Given the description of an element on the screen output the (x, y) to click on. 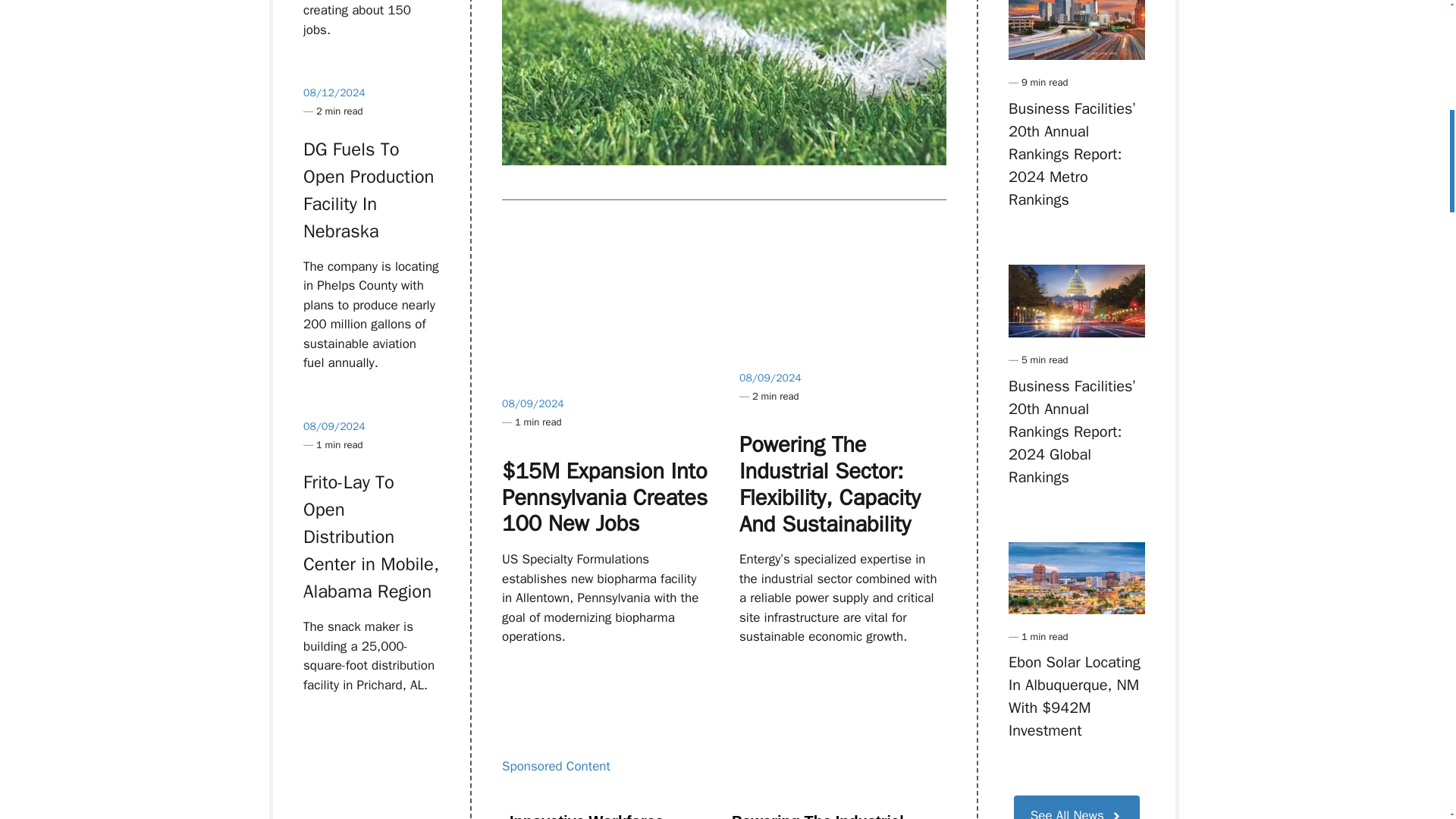
Scroll back to top (1409, 720)
3rd party ad content (609, 797)
3rd party ad content (831, 797)
